Given the description of an element on the screen output the (x, y) to click on. 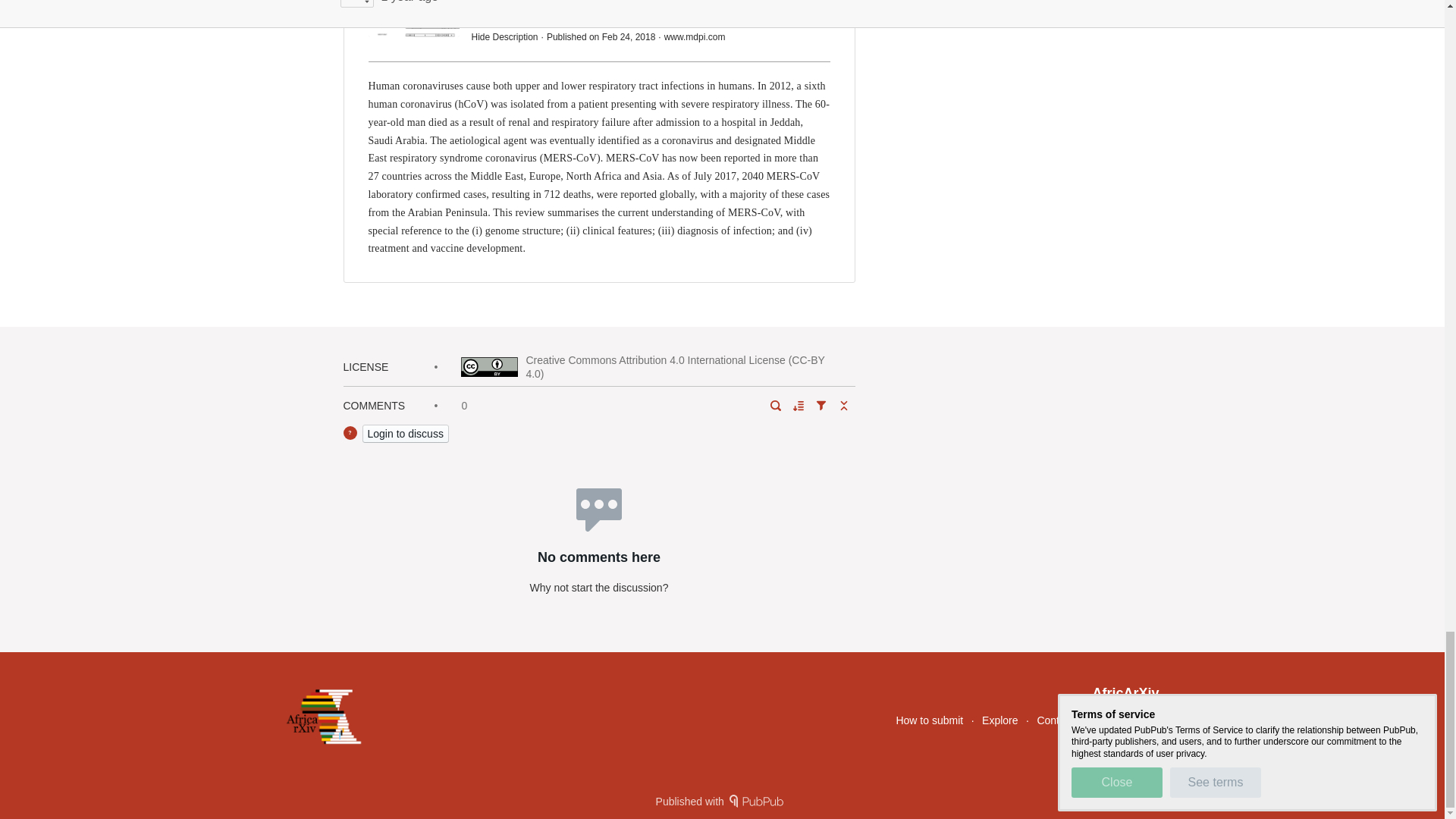
AfricArXiv (1125, 693)
How to submit (928, 720)
Login to discuss (405, 434)
Explore (999, 720)
